Given the description of an element on the screen output the (x, y) to click on. 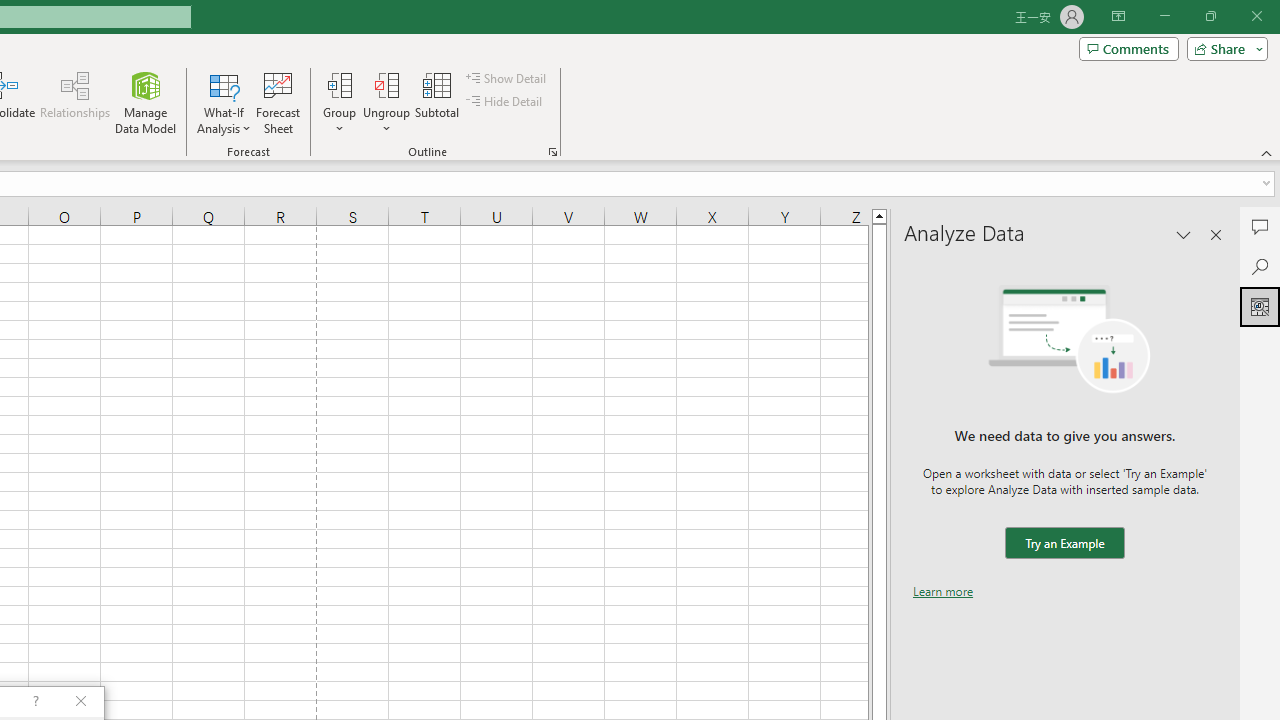
Ungroup... (386, 102)
Minimize (1164, 16)
Group... (339, 102)
Ribbon Display Options (1118, 16)
Task Pane Options (1183, 234)
Search (1260, 266)
We need data to give you answers. Try an Example (1064, 543)
Restore Down (1210, 16)
Comments (1260, 226)
Ungroup... (386, 84)
Group... (339, 84)
Learn more (943, 591)
Close pane (1215, 234)
